Given the description of an element on the screen output the (x, y) to click on. 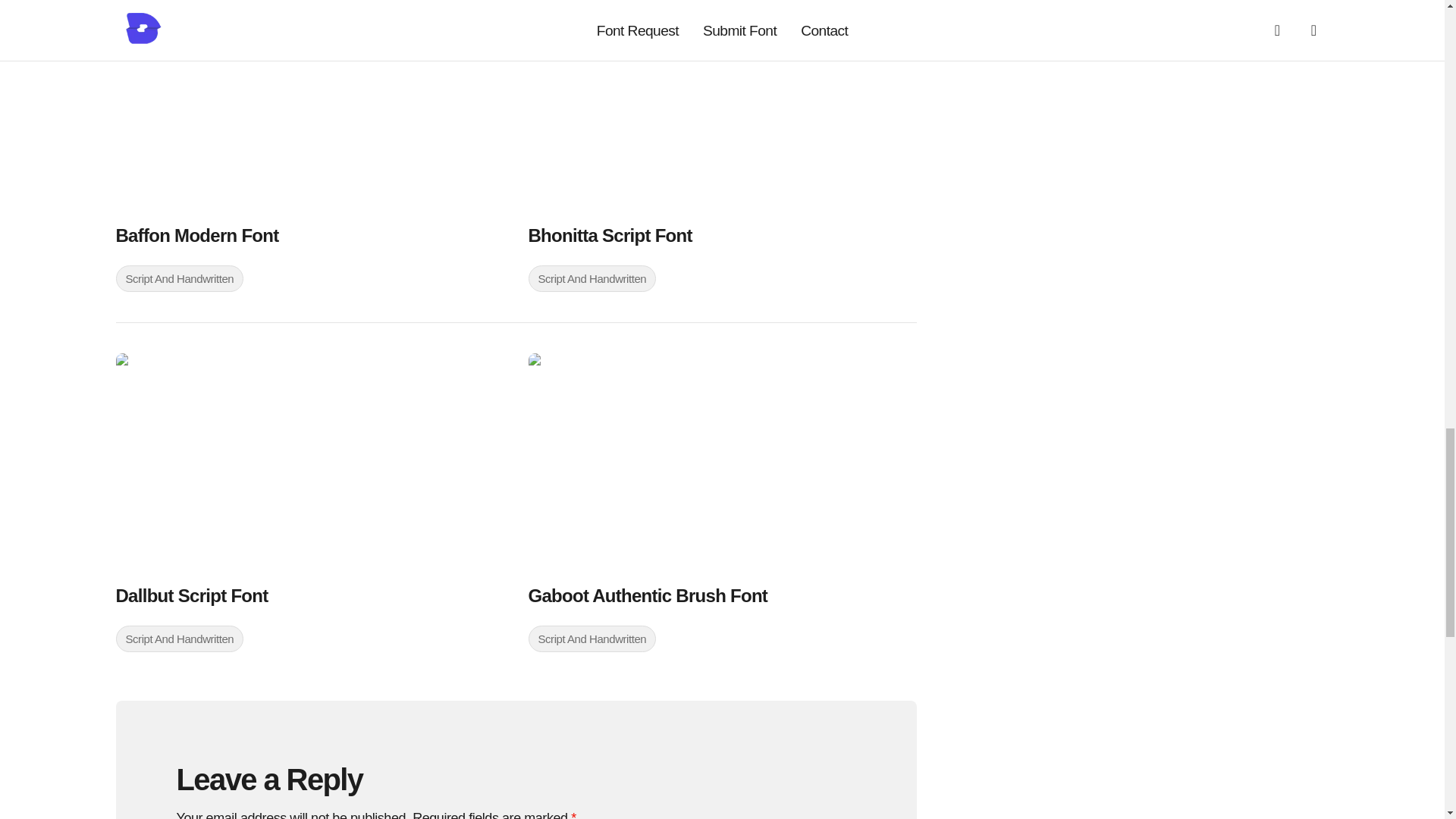
Dallbut Script Font (309, 461)
Baffon Modern Font (309, 105)
Script And Handwritten (179, 278)
Script And Handwritten (591, 278)
Bhonitta Script Font (721, 105)
Bhonitta Script Font (721, 235)
Gaboot Authentic Brush Font (721, 461)
Baffon Modern Font (309, 235)
